Given the description of an element on the screen output the (x, y) to click on. 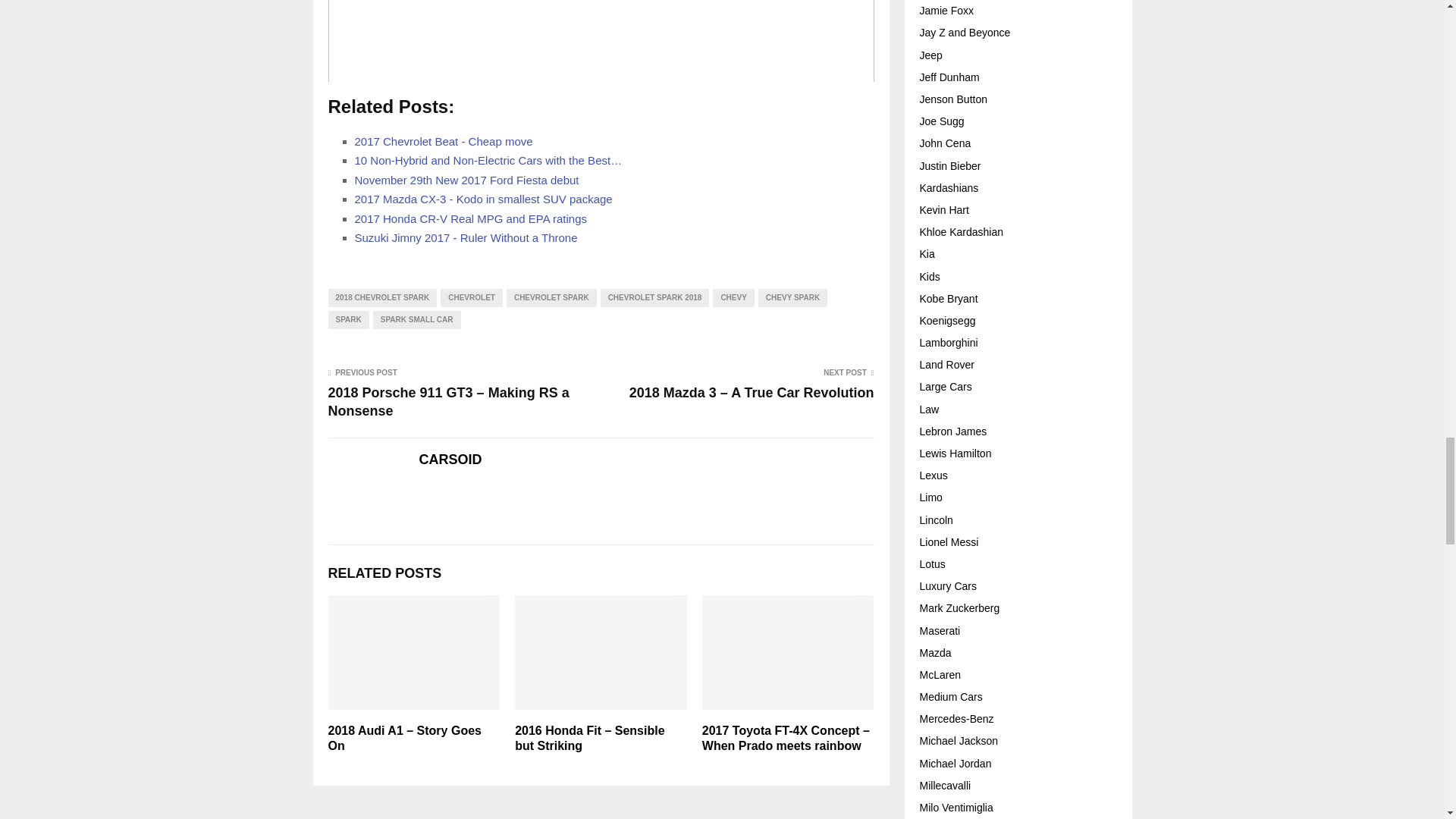
Suzuki Jimny 2017 - Ruler Without a Throne (466, 237)
2017 Chevrolet Beat - Cheap move (443, 141)
2017 Honda CR-V Real MPG and EPA ratings (471, 218)
2017 Mazda CX-3 - Kodo in smallest SUV package (483, 198)
Posts by CARSOID (450, 459)
November 29th New 2017 Ford Fiesta debut (467, 179)
